Given the description of an element on the screen output the (x, y) to click on. 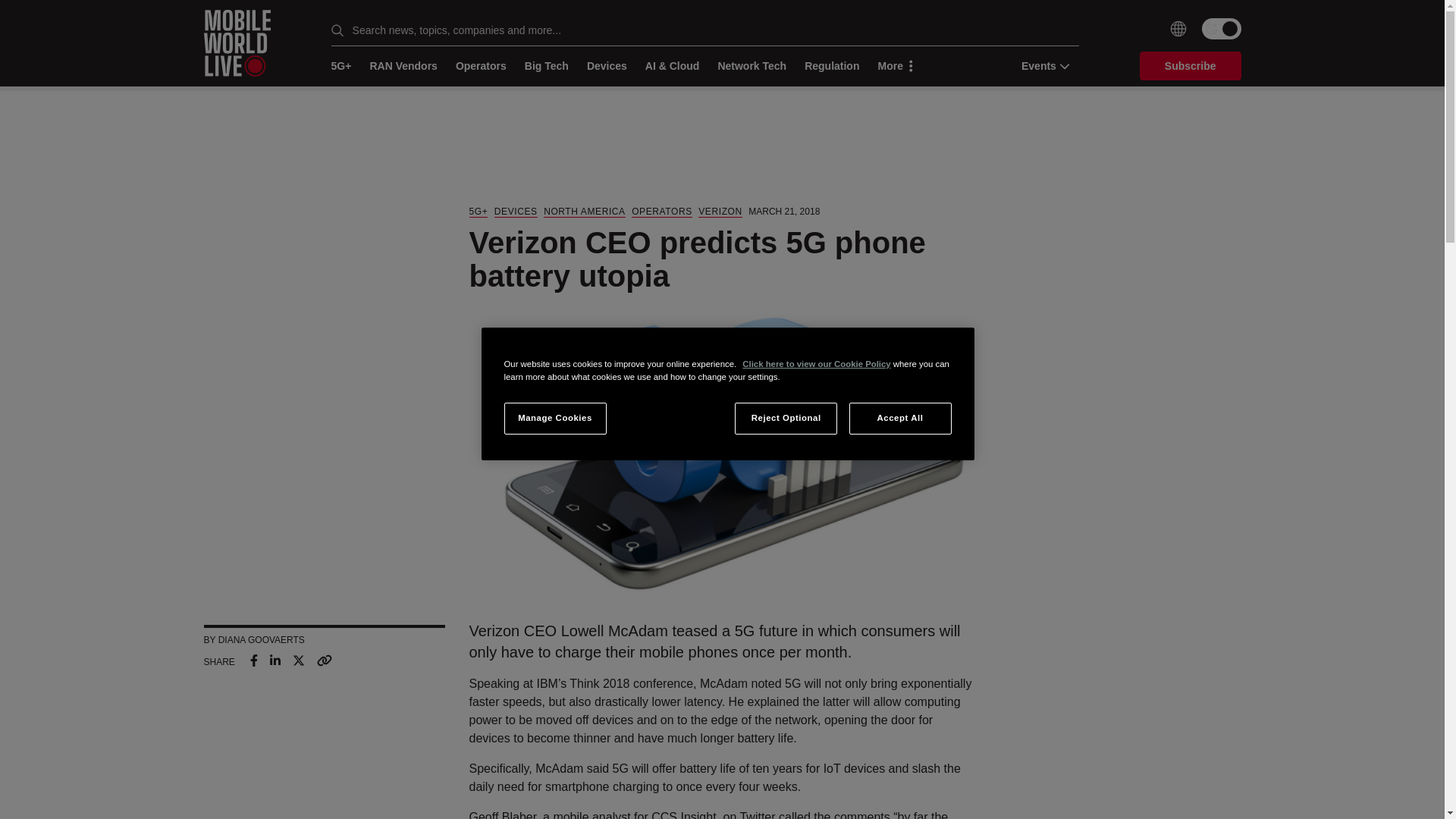
Network Tech (751, 65)
Operators (480, 65)
Big Tech (546, 65)
Devices (606, 65)
Subscribe (1190, 65)
Regulation (832, 65)
Events (1040, 65)
RAN Vendors (402, 65)
